Given the description of an element on the screen output the (x, y) to click on. 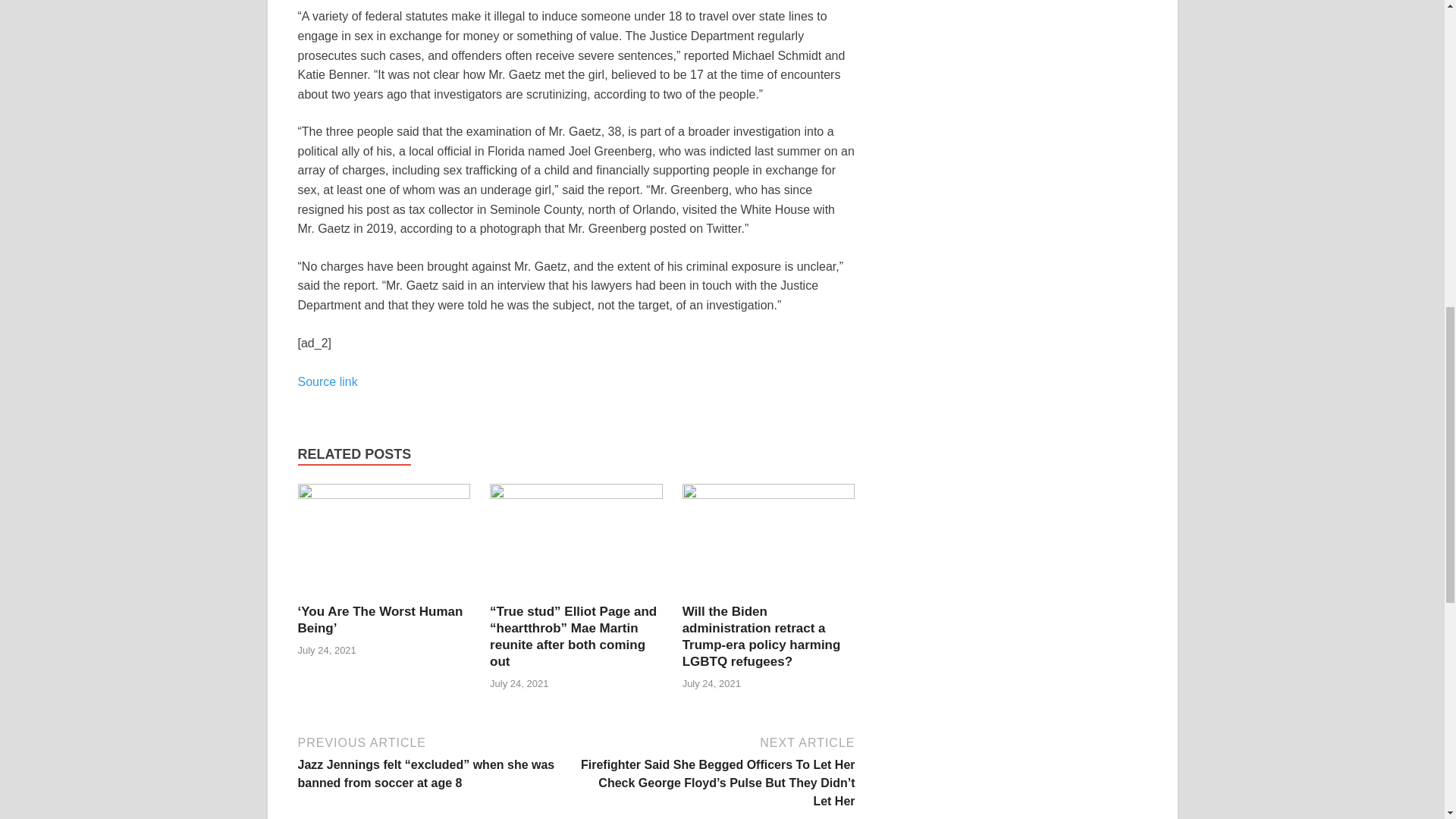
Source link (326, 381)
